Given the description of an element on the screen output the (x, y) to click on. 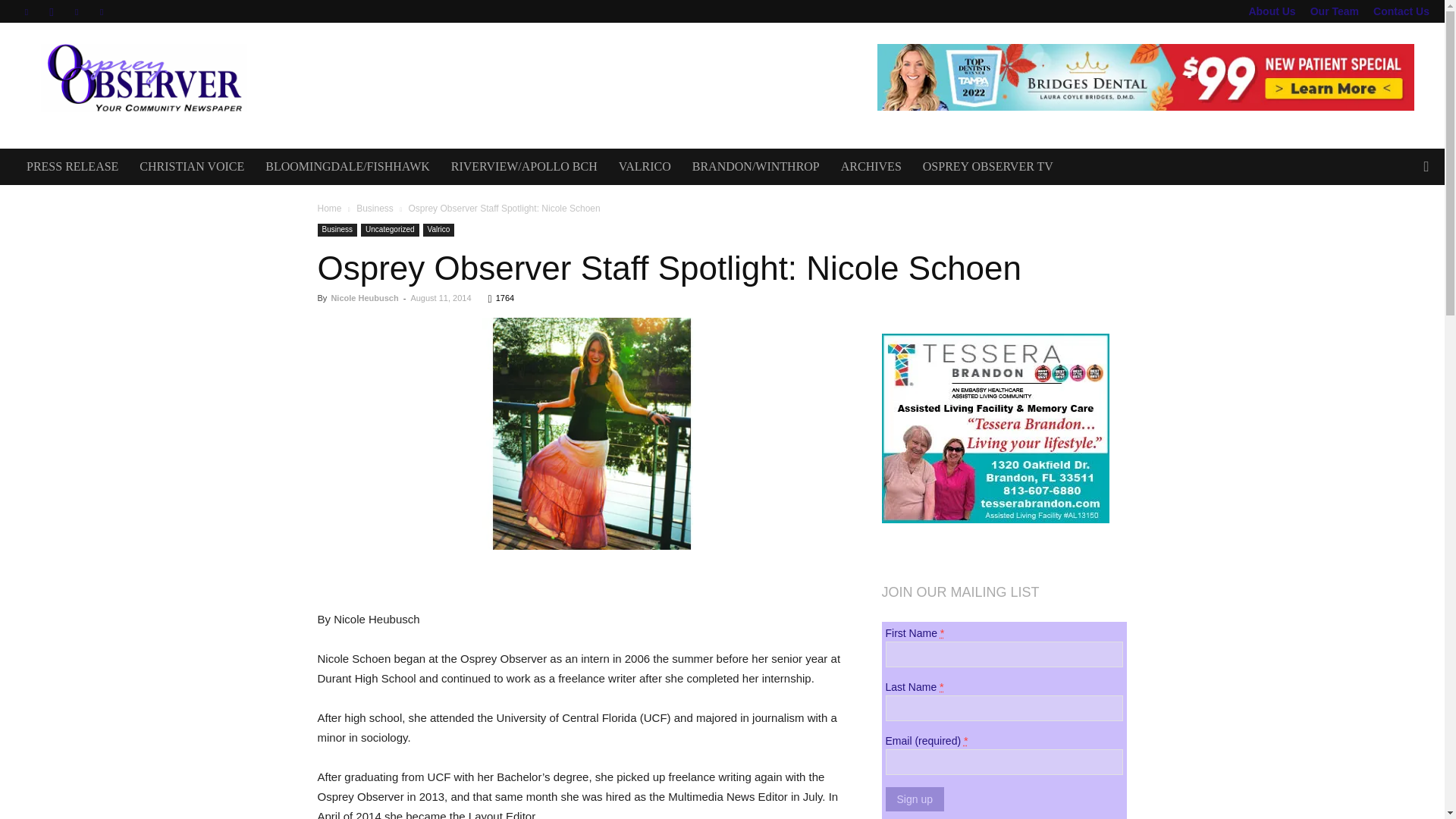
Untitled 125 (580, 433)
About Us (1271, 10)
Facebook (25, 11)
Instagram (51, 11)
Twitter (76, 11)
View all posts in Business (374, 208)
Sign up (914, 799)
Youtube (101, 11)
Our Team (1334, 10)
